Given the description of an element on the screen output the (x, y) to click on. 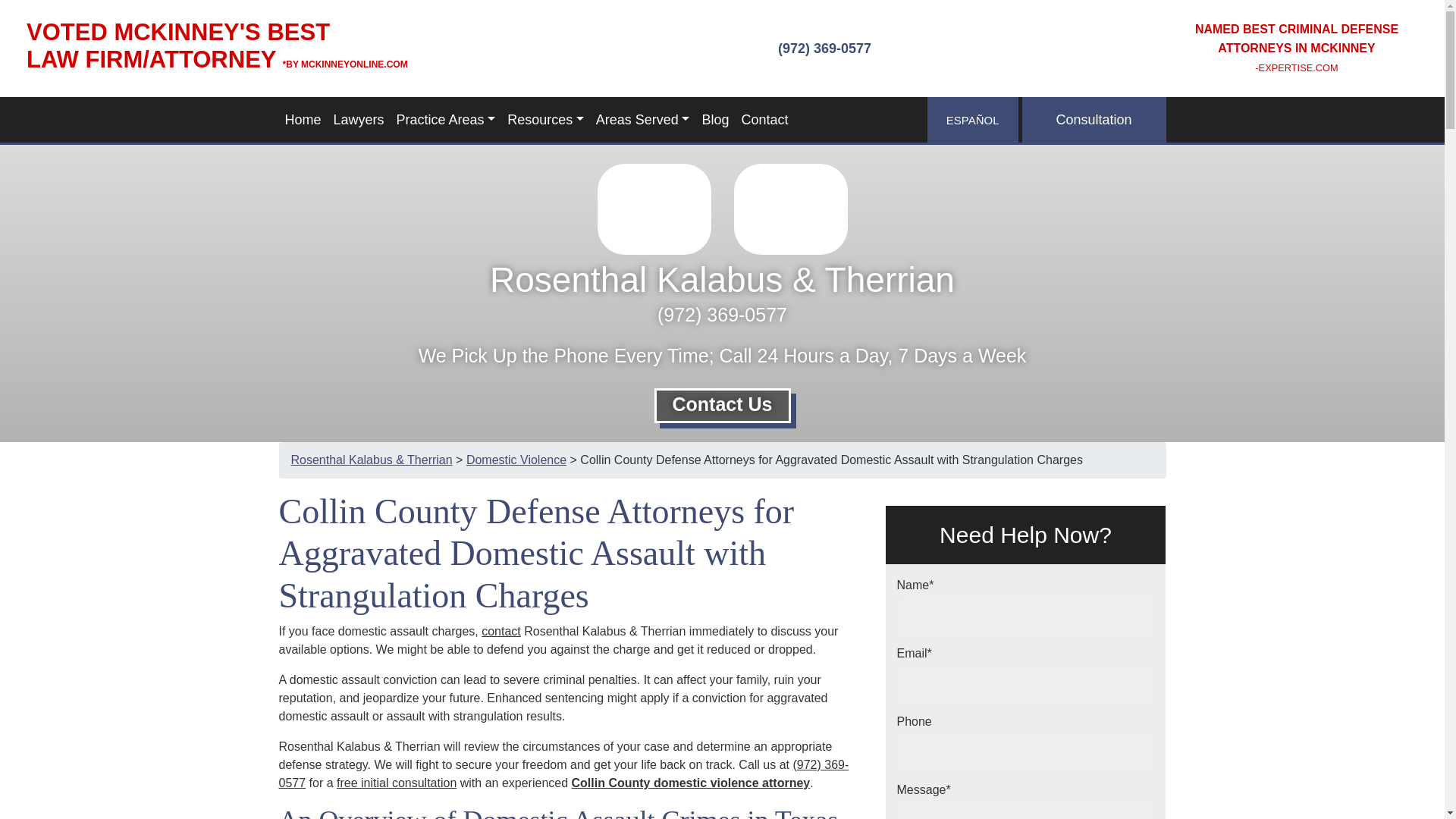
Lawyers (358, 119)
Resources (544, 119)
Practice Areas (446, 119)
Areas Served (642, 119)
Home (303, 119)
Go to Domestic Violence. (515, 459)
